Given the description of an element on the screen output the (x, y) to click on. 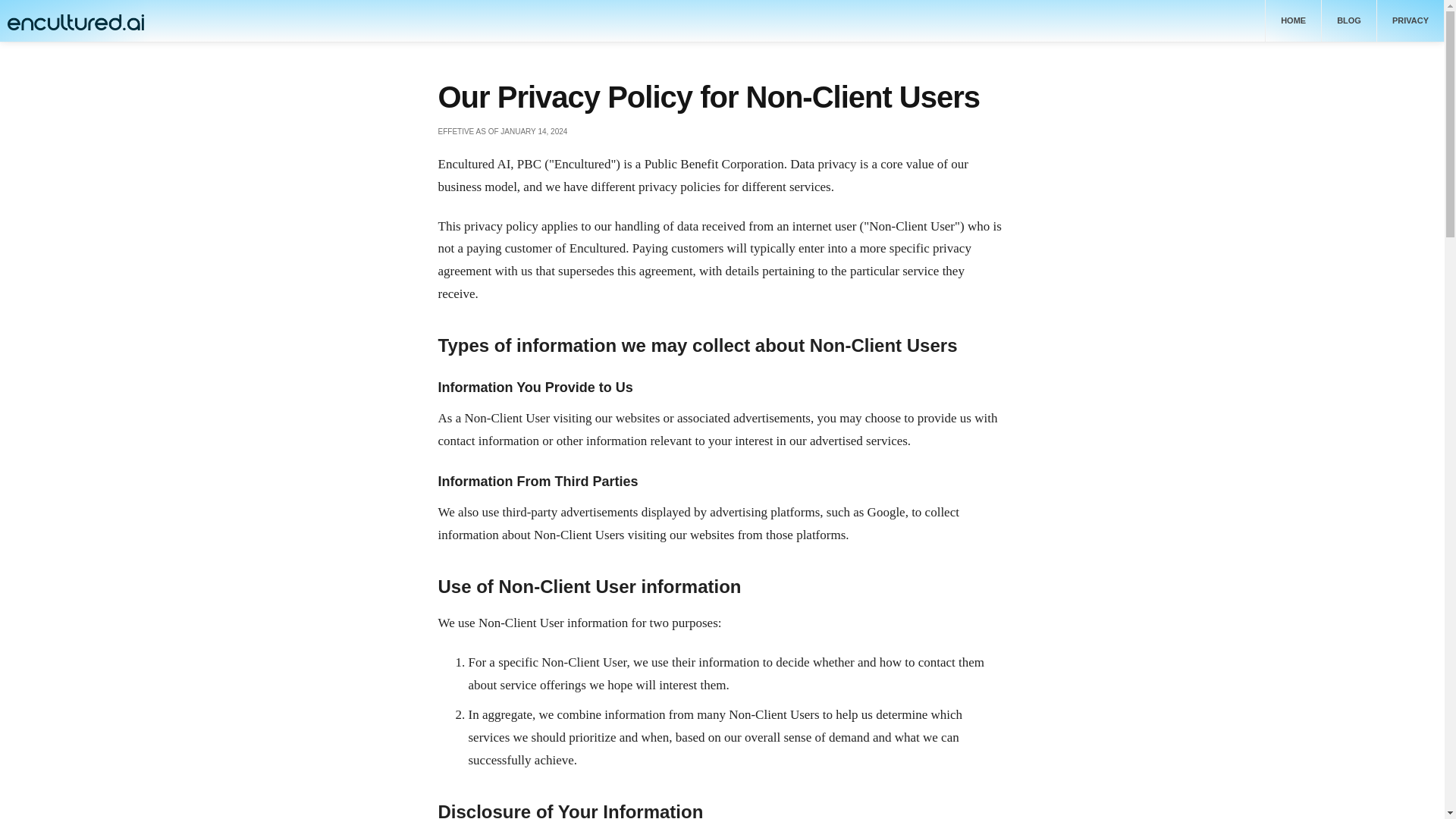
HOME (1293, 20)
BLOG (1349, 20)
